Given the description of an element on the screen output the (x, y) to click on. 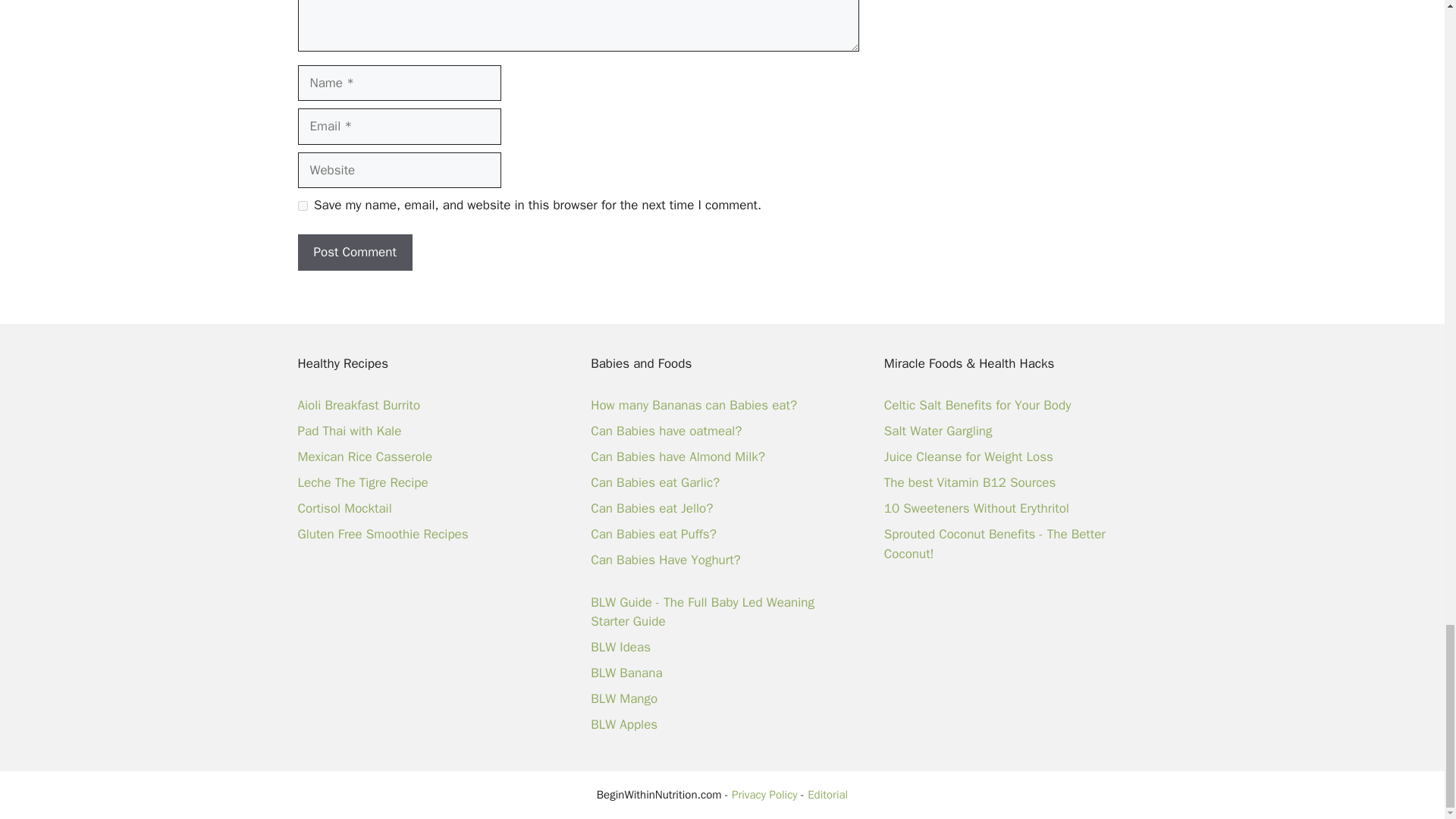
yes (302, 205)
Post Comment (354, 252)
